Given the description of an element on the screen output the (x, y) to click on. 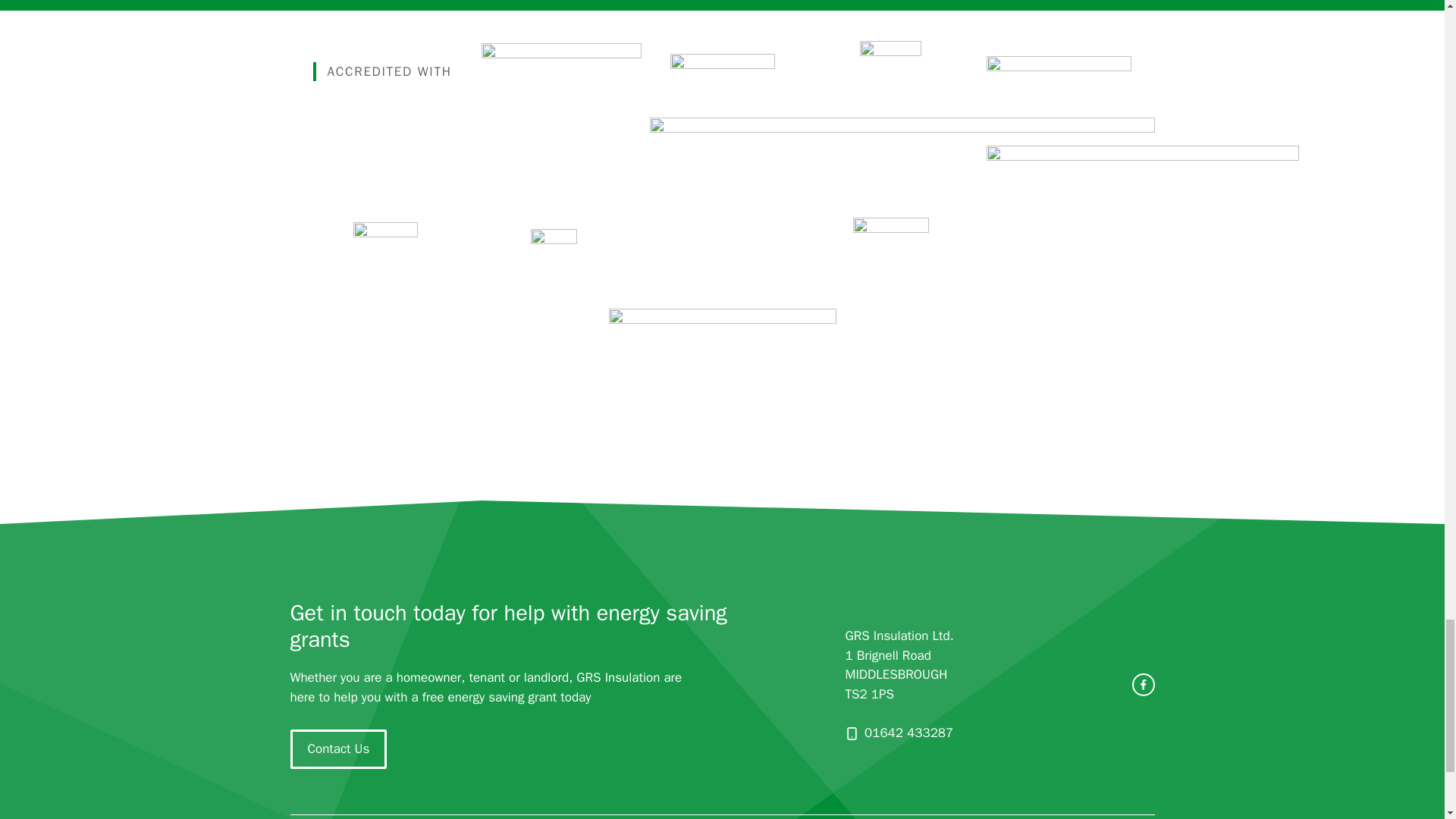
Contact Us (338, 749)
Qualitymark Protection Accredited (1141, 219)
01642 433287 (908, 732)
